Given the description of an element on the screen output the (x, y) to click on. 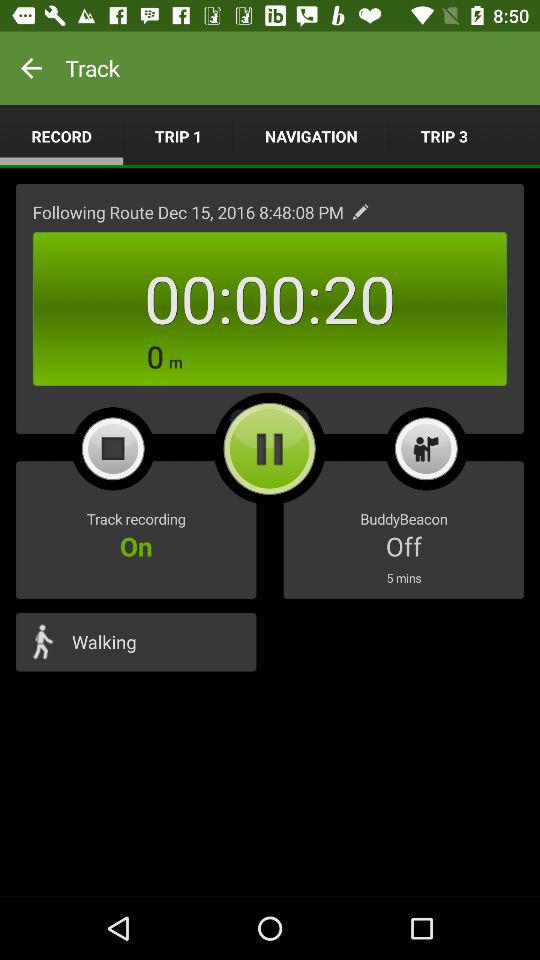
choose trip 1 app (178, 136)
